Given the description of an element on the screen output the (x, y) to click on. 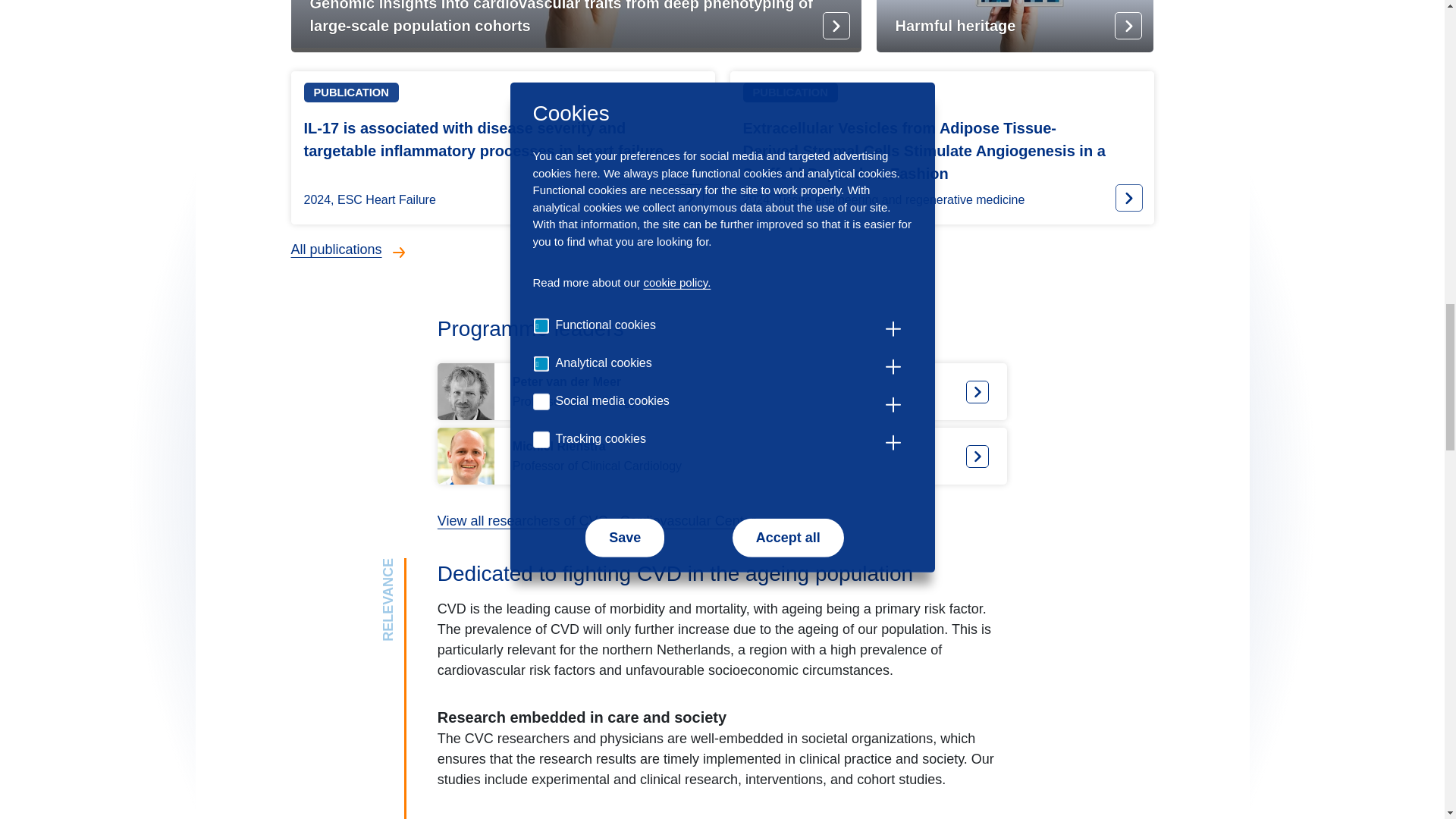
View all researchers of CVC - Cardiovascular Center (722, 455)
All publications (608, 520)
